Given the description of an element on the screen output the (x, y) to click on. 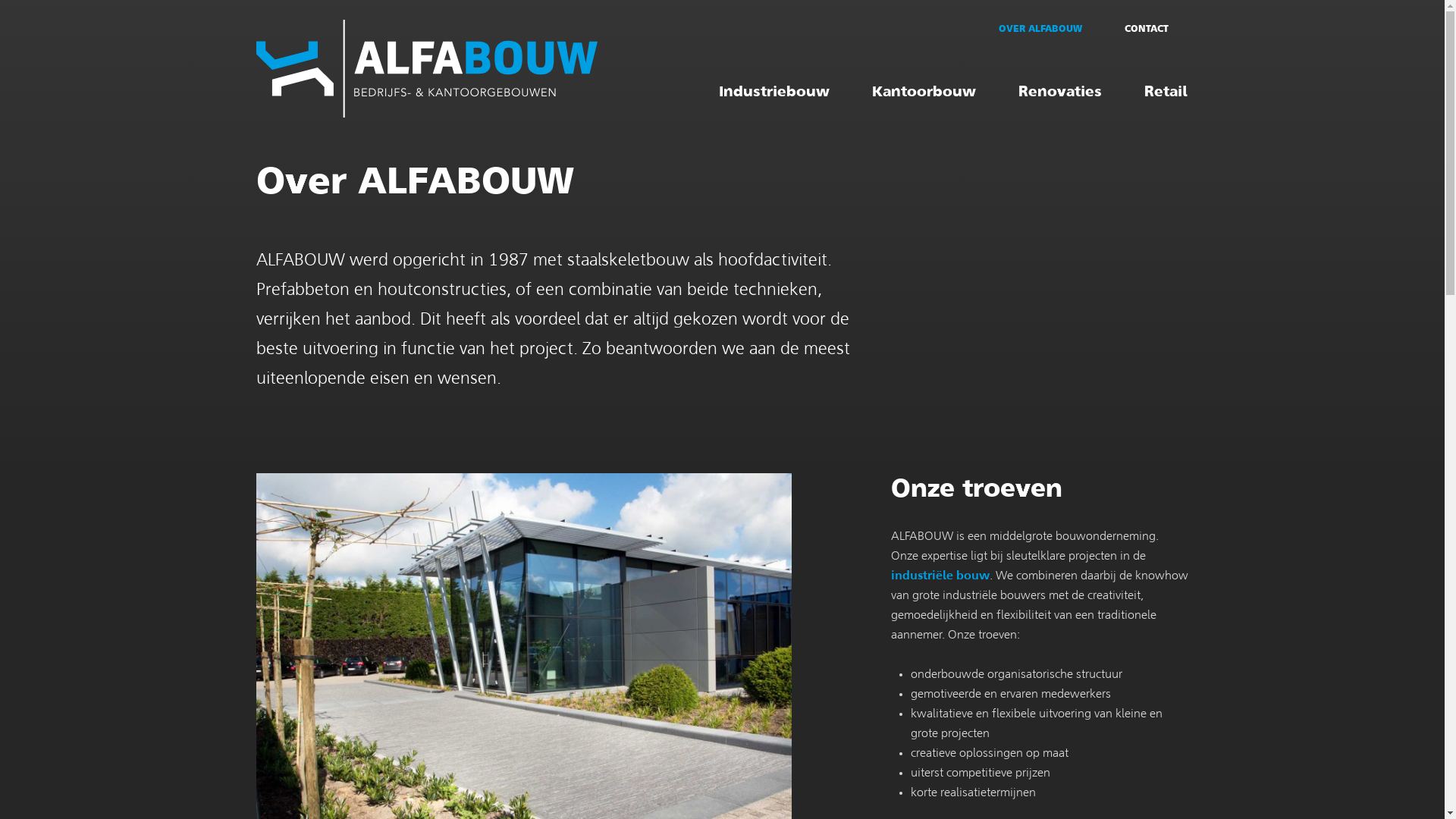
Renovaties Element type: text (1059, 92)
Kantoorbouw Element type: text (923, 92)
Industriebouw Element type: text (773, 92)
OVER ALFABOUW Element type: text (1040, 29)
CONTACT Element type: text (1146, 29)
Retail Element type: text (1166, 92)
